Given the description of an element on the screen output the (x, y) to click on. 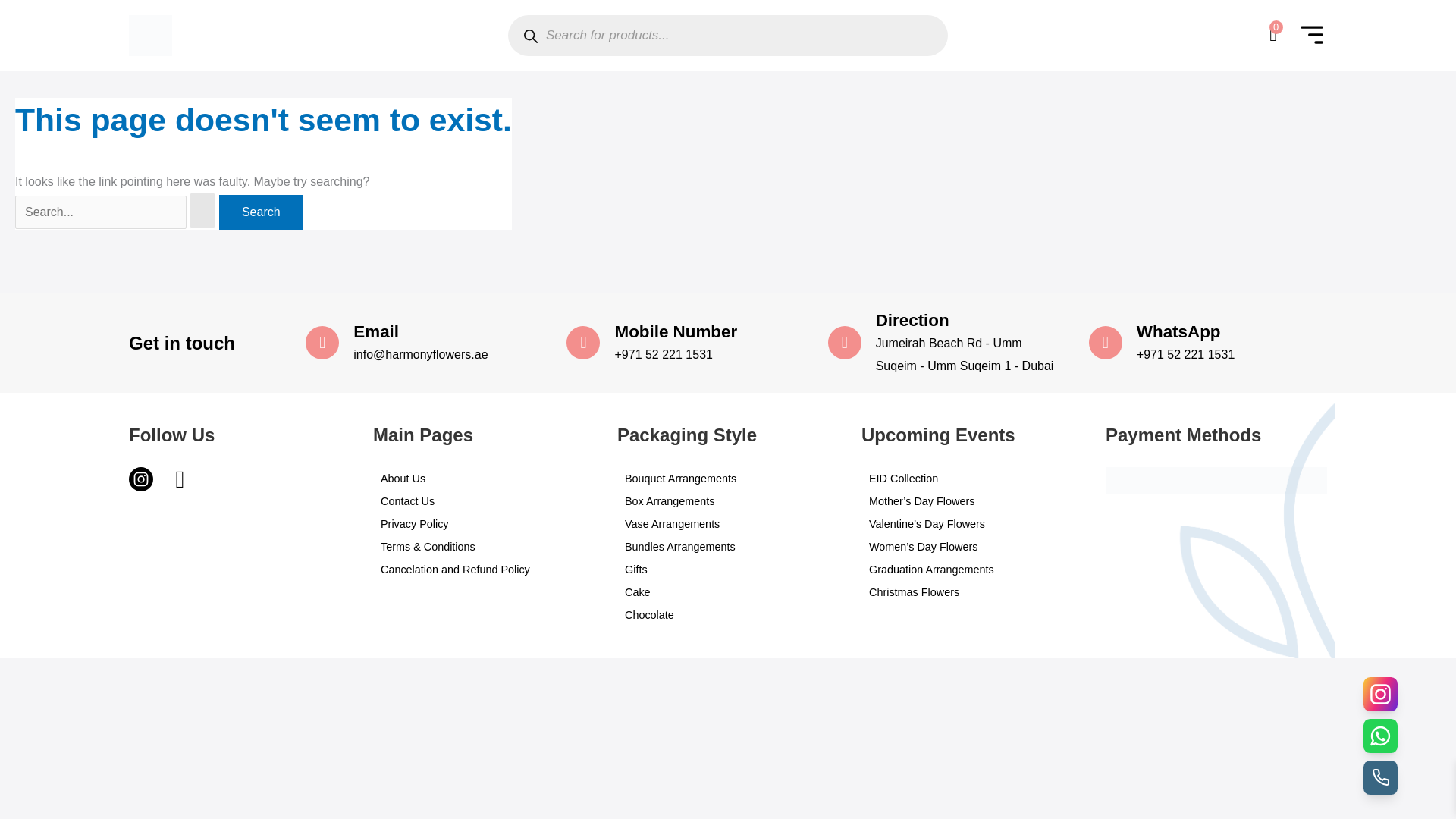
Christmas Flowers (972, 591)
EID Collection (972, 477)
Graduation Arrangements (972, 568)
Cancelation and Refund Policy (483, 568)
Bundles Arrangements (727, 546)
Chocolate (727, 614)
Mobile Number (675, 331)
WhatsApp (1179, 331)
Cake (727, 591)
Whatsapp (181, 481)
